Given the description of an element on the screen output the (x, y) to click on. 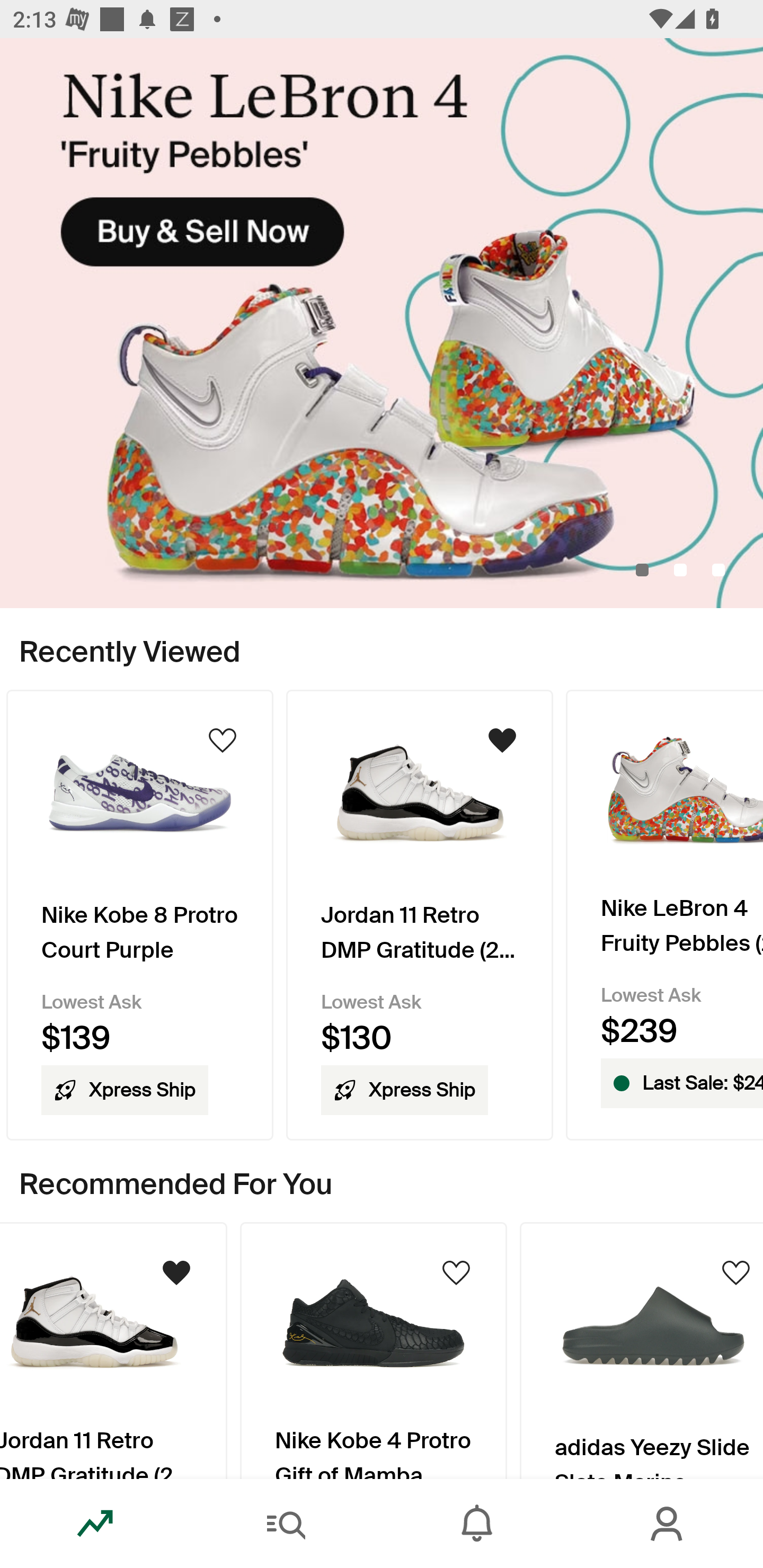
Product Image Nike Kobe 4 Protro Gift of Mamba (373, 1349)
Product Image adidas Yeezy Slide Slate Marine (641, 1349)
Search (285, 1523)
Inbox (476, 1523)
Account (667, 1523)
